Given the description of an element on the screen output the (x, y) to click on. 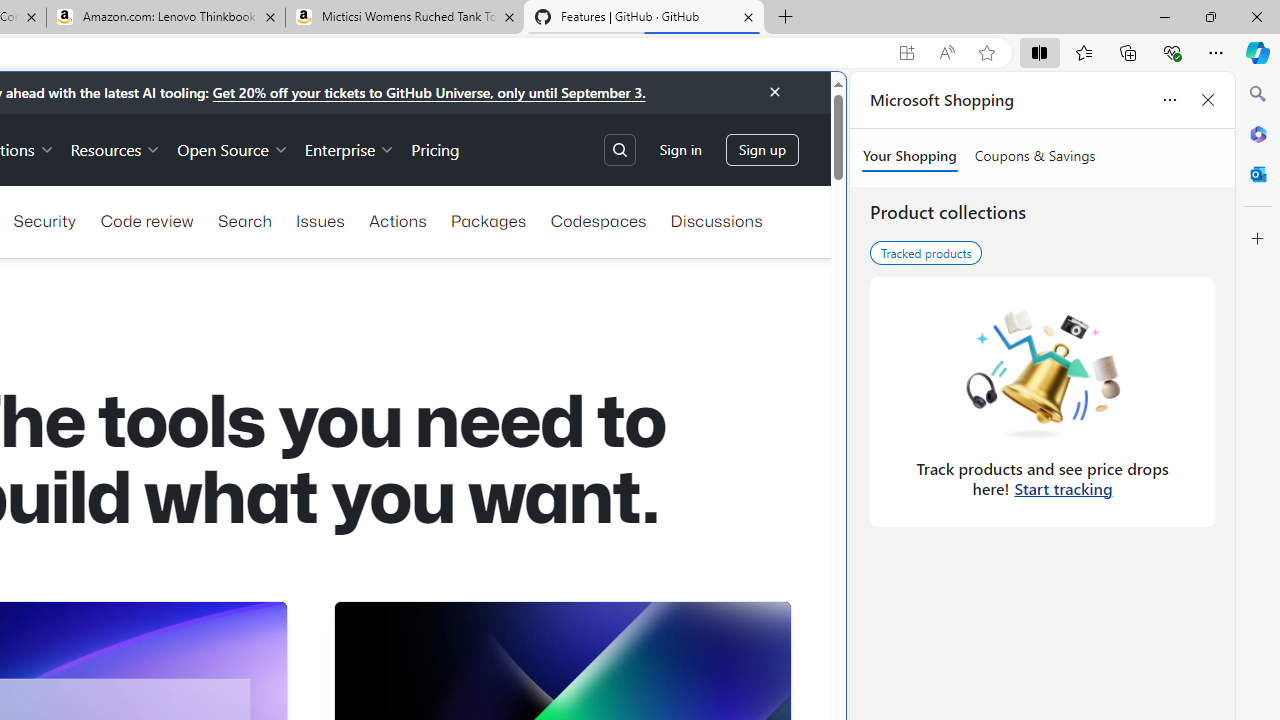
Enterprise (349, 148)
Sign up (761, 149)
App available. Install  (906, 53)
Packages (488, 220)
Issues (320, 220)
